Given the description of an element on the screen output the (x, y) to click on. 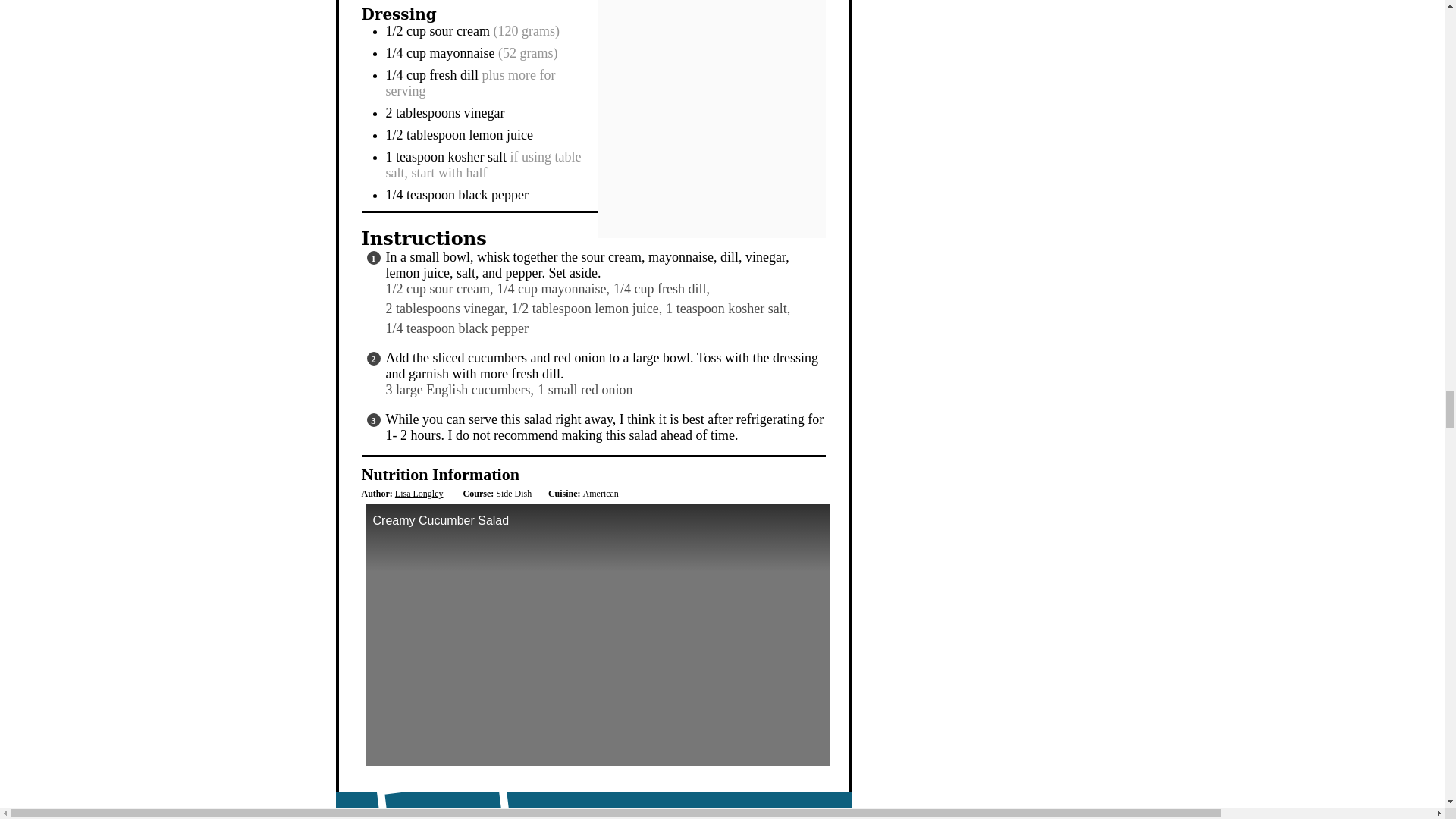
Creamy Cucumber Salad (597, 634)
